Given the description of an element on the screen output the (x, y) to click on. 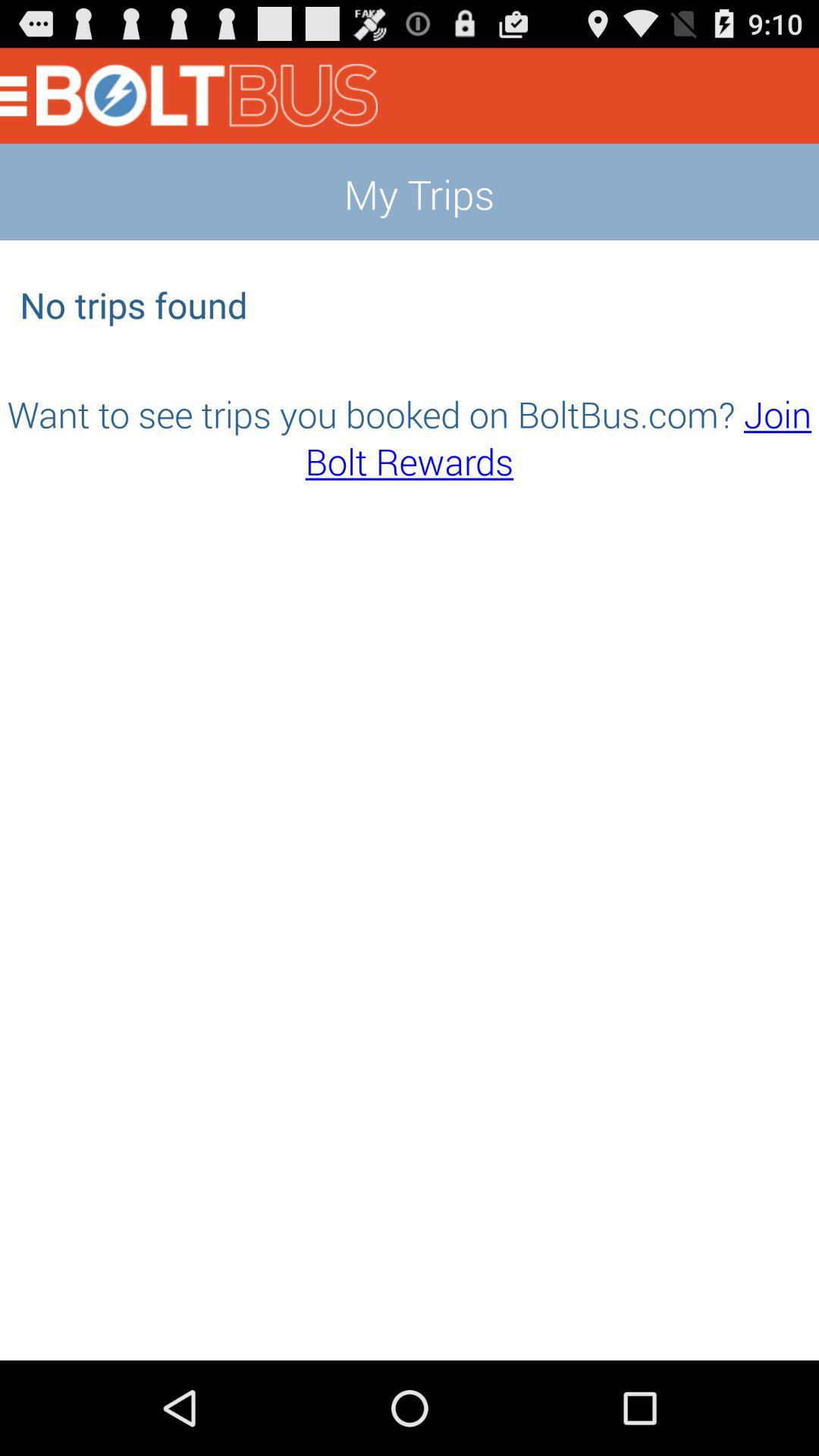
swipe to want to see icon (409, 437)
